Given the description of an element on the screen output the (x, y) to click on. 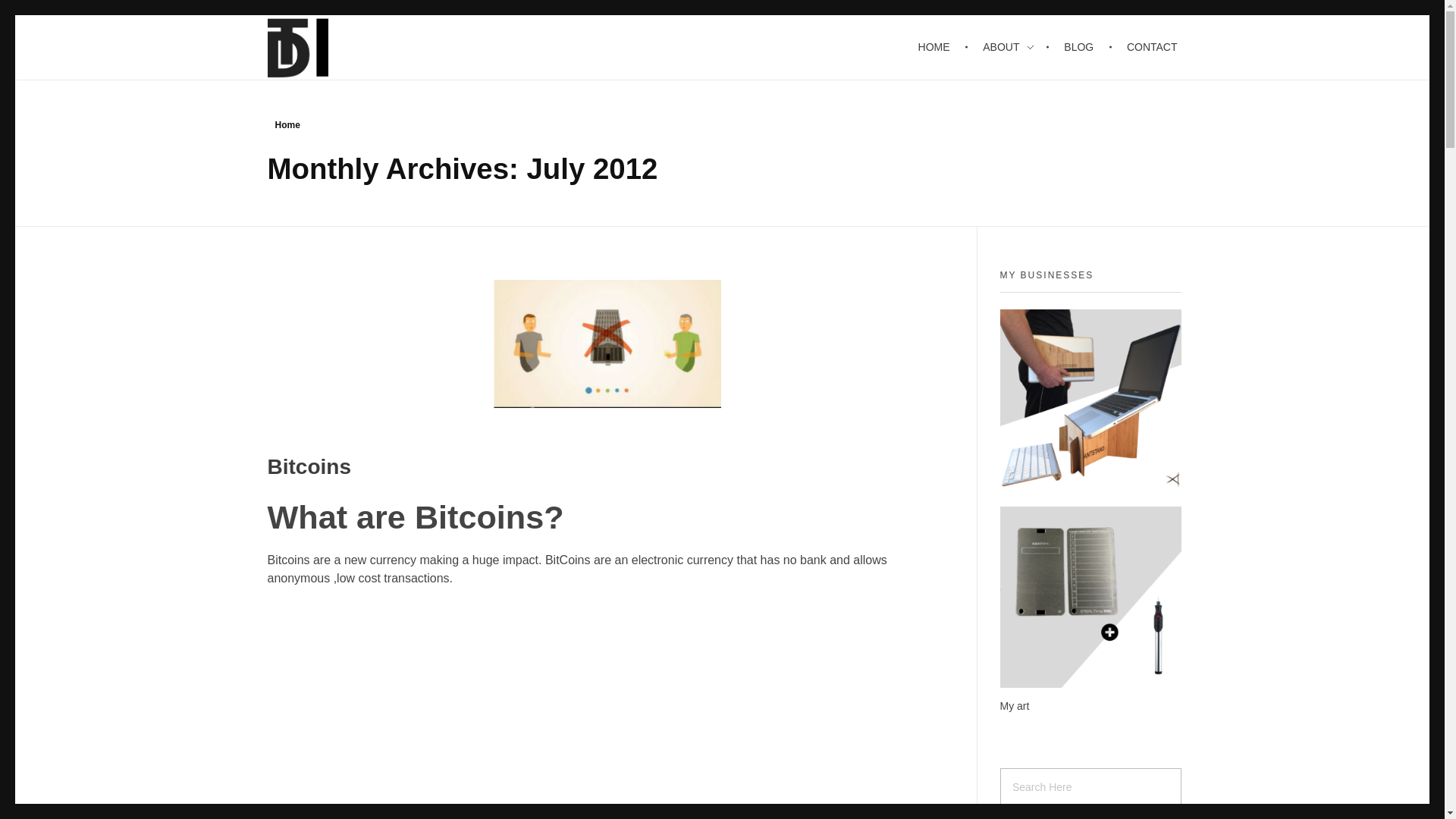
CONTACT (1145, 47)
My art (1013, 705)
Home (287, 124)
Home (287, 124)
BLOG (1081, 47)
Search (42, 13)
Bitcoins (308, 466)
ABOUT (1009, 47)
